Given the description of an element on the screen output the (x, y) to click on. 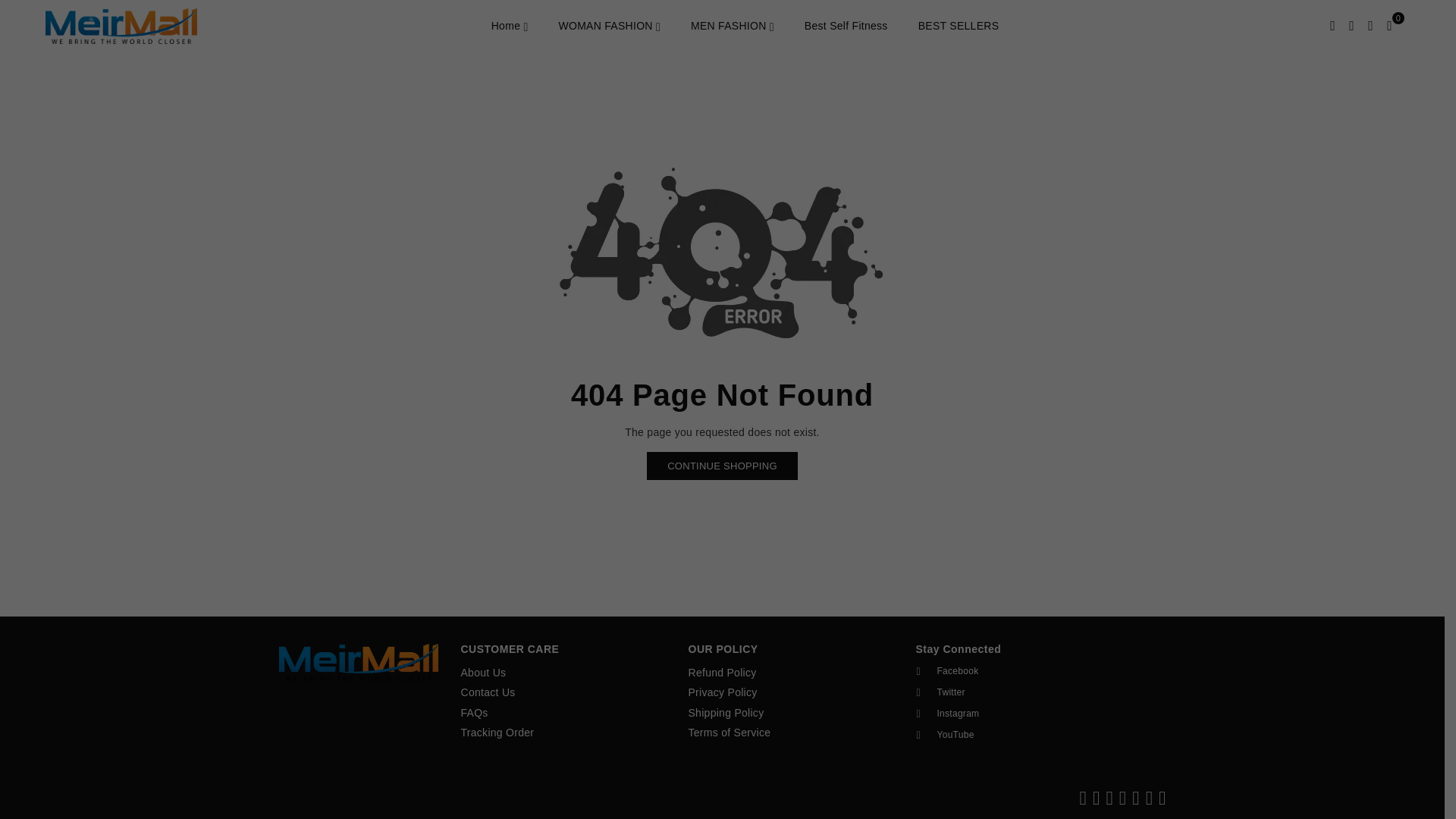
MeirMall on Twitter (1013, 692)
MEN FASHION (732, 25)
MeirMall on Facebook (1013, 671)
MeirMall (132, 26)
Home (510, 25)
WOMAN FASHION (609, 25)
Best Self Fitness (846, 25)
MeirMall on YouTube (1013, 735)
MeirMall on Instagram (1013, 713)
